Given the description of an element on the screen output the (x, y) to click on. 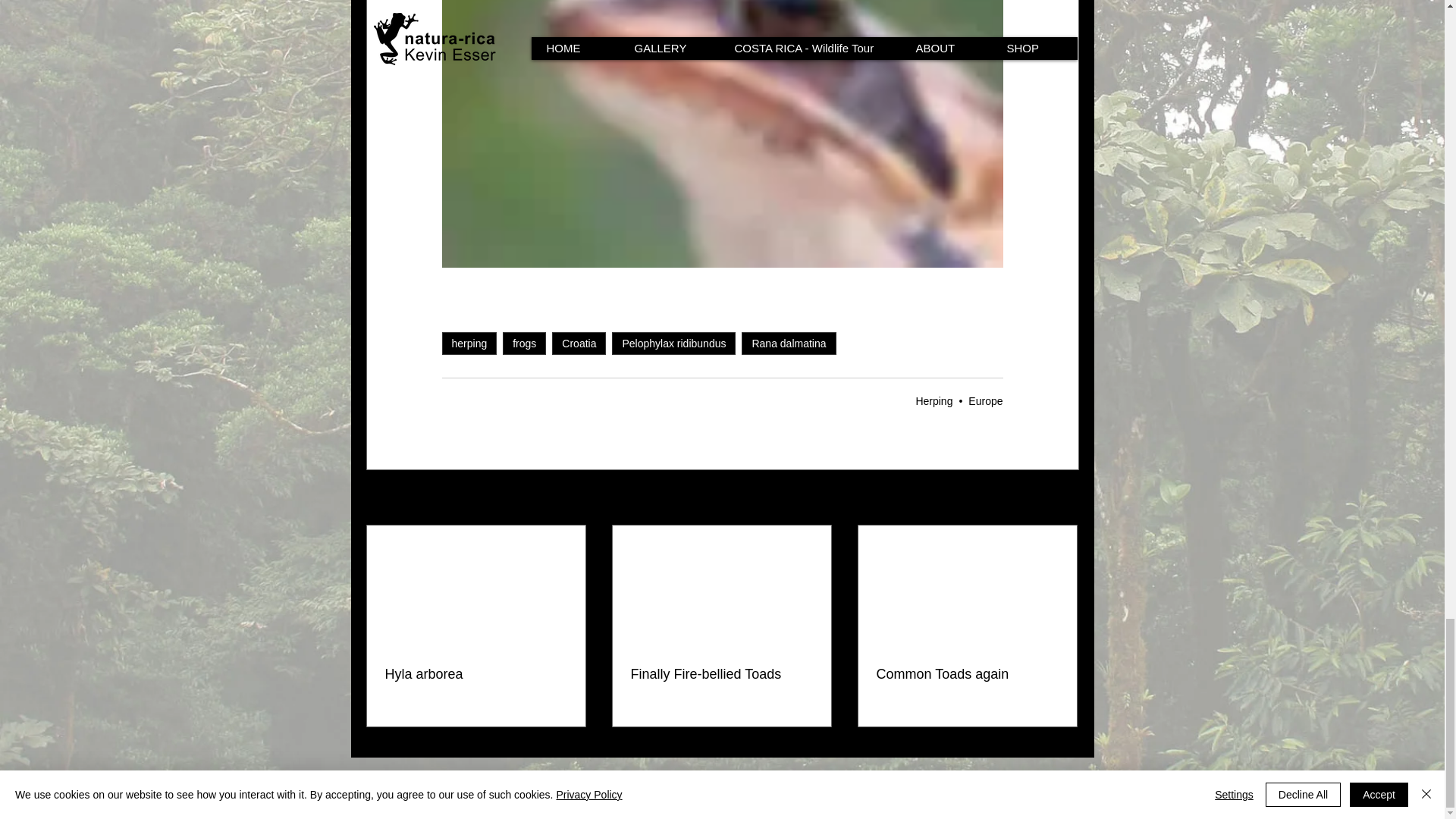
See All (1061, 498)
Hyla arborea (476, 674)
Croatia (578, 343)
Europe (985, 400)
herping (468, 343)
Rana dalmatina (788, 343)
Finally Fire-bellied Toads (721, 674)
Pelophylax ridibundus (673, 343)
Common Toads again (967, 674)
Herping (933, 400)
